Given the description of an element on the screen output the (x, y) to click on. 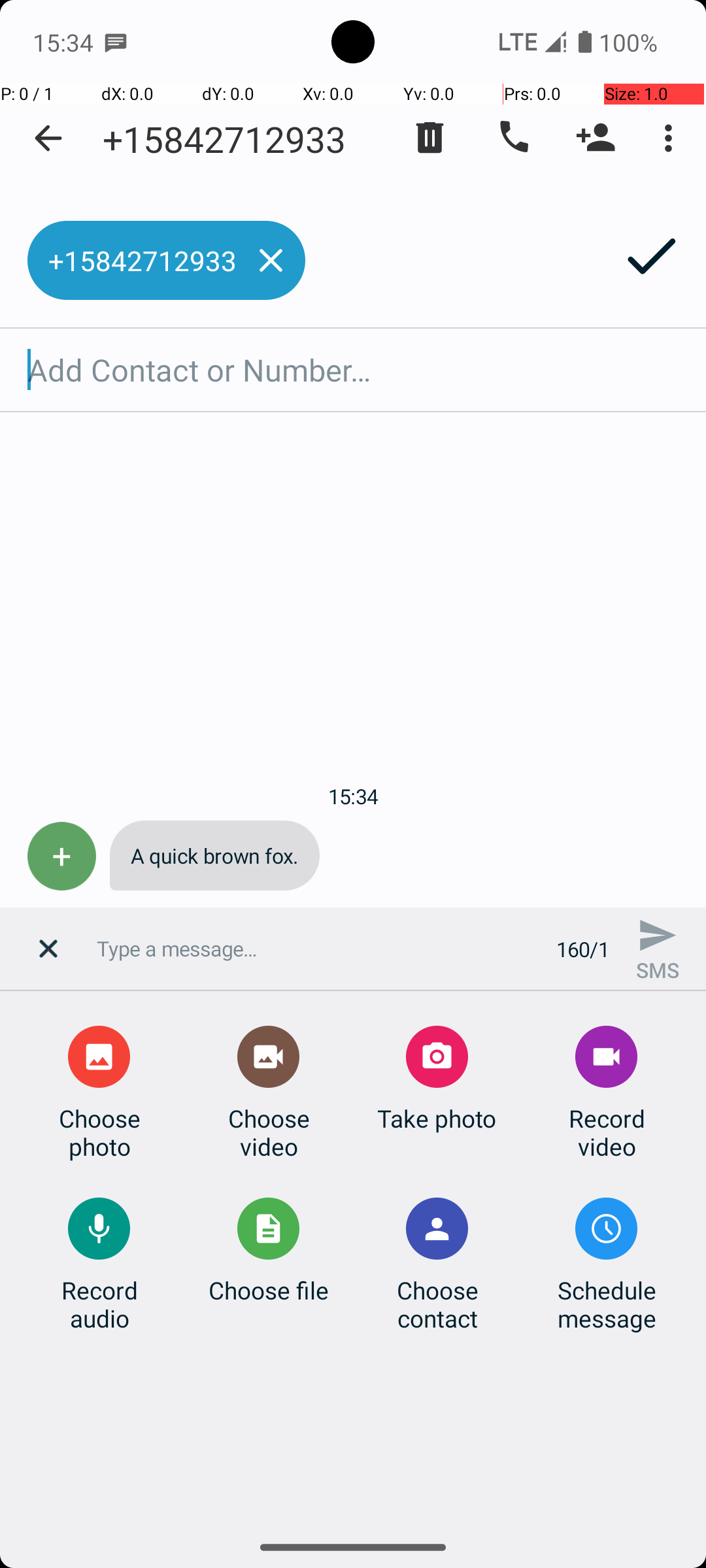
+15842712933 Element type: android.widget.TextView (223, 138)
160/1 Element type: android.widget.TextView (582, 948)
A quick brown fox. Element type: android.widget.TextView (214, 855)
Choose photo Element type: android.widget.TextView (98, 1131)
Choose video Element type: android.widget.TextView (268, 1131)
Record video Element type: android.widget.TextView (606, 1131)
Record audio Element type: android.widget.TextView (98, 1303)
Choose file Element type: android.widget.TextView (268, 1289)
Choose contact Element type: android.widget.TextView (436, 1303)
Schedule message Element type: android.widget.TextView (606, 1303)
